Given the description of an element on the screen output the (x, y) to click on. 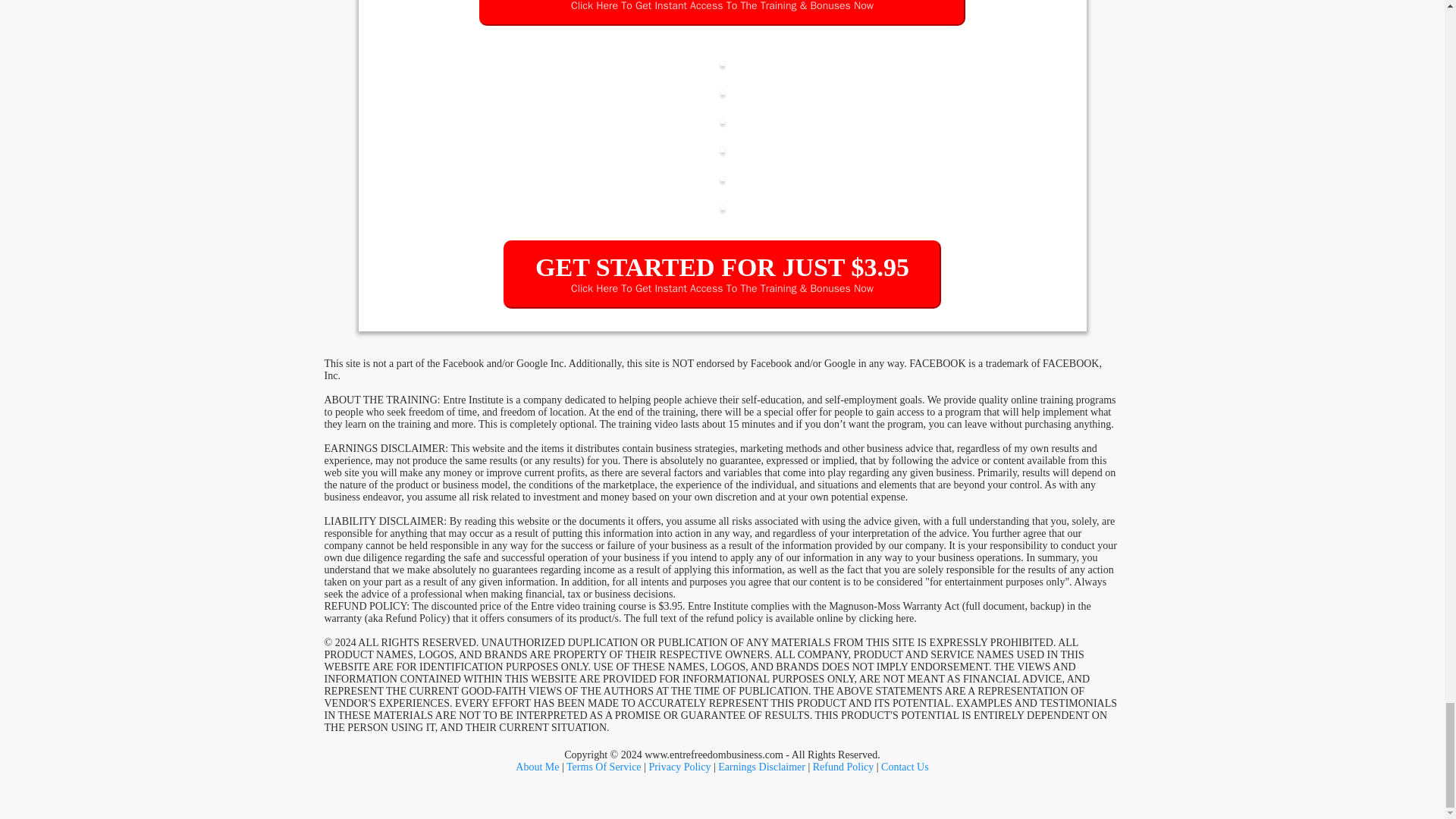
Refund Policy (843, 767)
Earnings Disclaimer (761, 767)
Terms Of Service (604, 767)
About Me (537, 767)
Privacy Policy (678, 767)
Contact Us (904, 767)
